Given the description of an element on the screen output the (x, y) to click on. 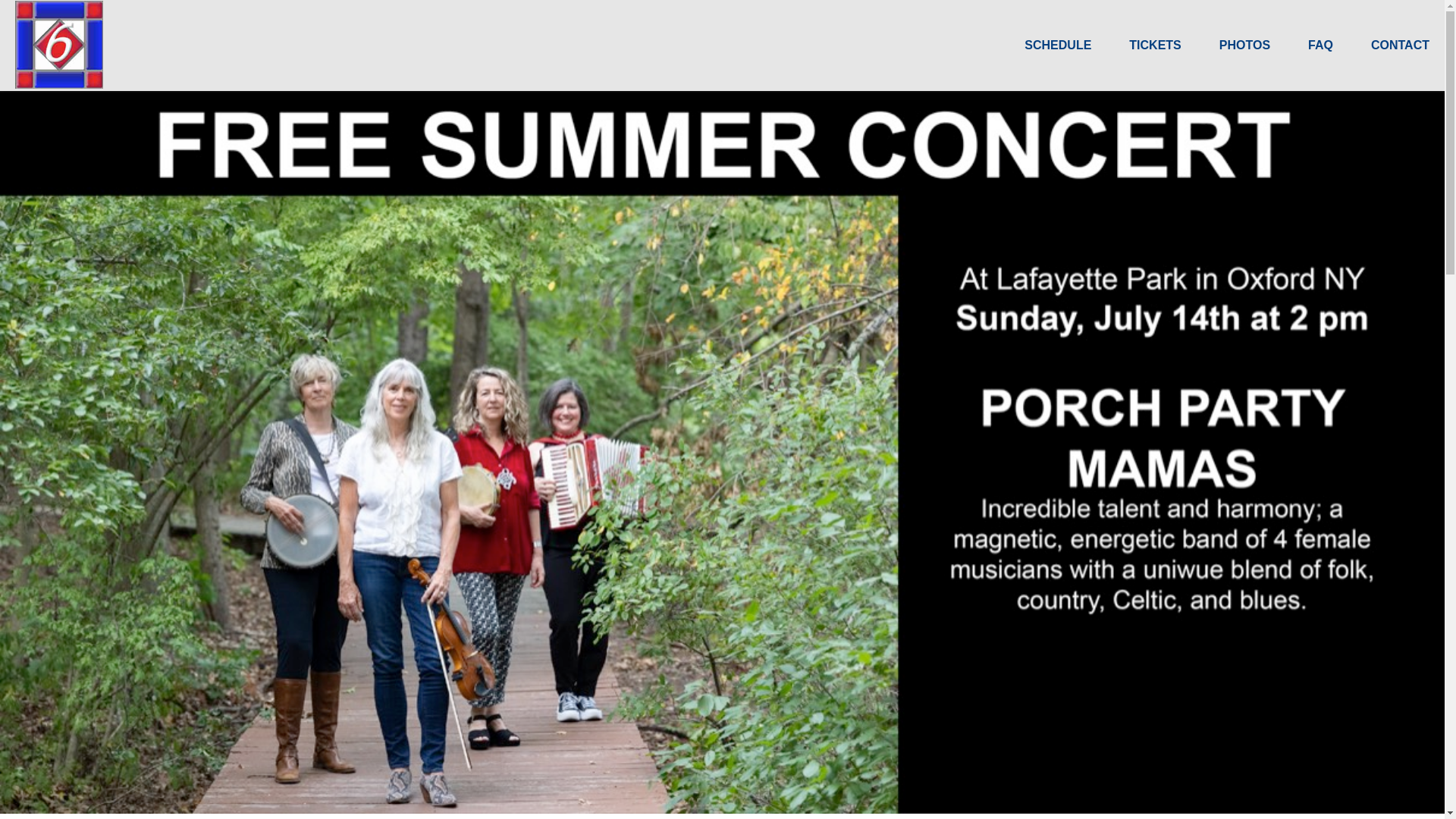
PHOTOS (1244, 44)
CONTACT (1400, 44)
SCHEDULE (1057, 44)
2 (702, 794)
1 (683, 794)
FAQ (1320, 44)
5 (759, 794)
TICKETS (1154, 44)
3 (721, 794)
4 (740, 794)
